Given the description of an element on the screen output the (x, y) to click on. 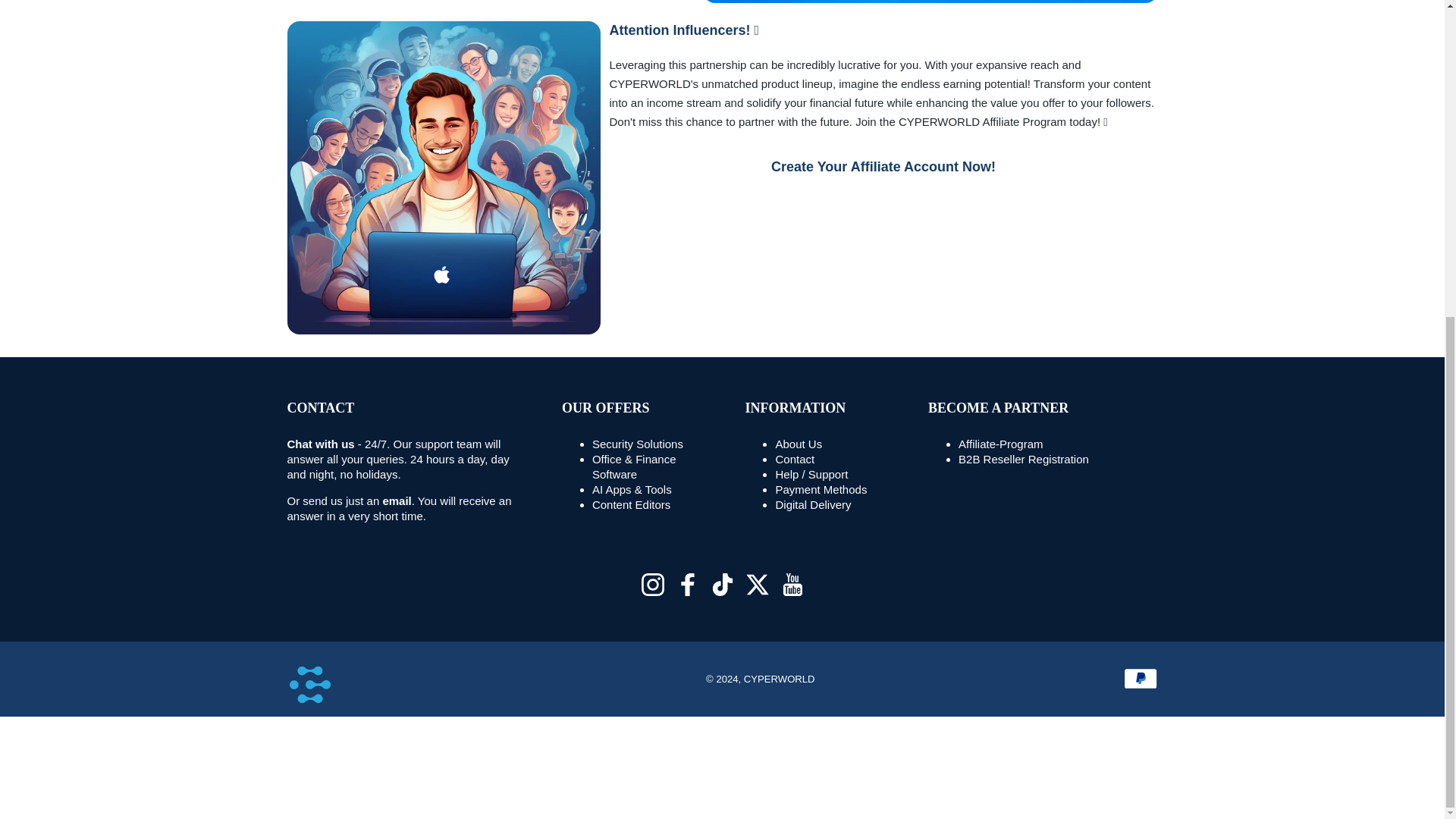
Contact (395, 500)
Accepted Payment Methods at CYPERWORLD (820, 489)
Affiliate-Program (1000, 443)
Content Editors (630, 504)
Contact (793, 459)
CYPERWORLD (308, 684)
Digital Delivery (812, 504)
About us (798, 443)
Contact (810, 473)
